Given the description of an element on the screen output the (x, y) to click on. 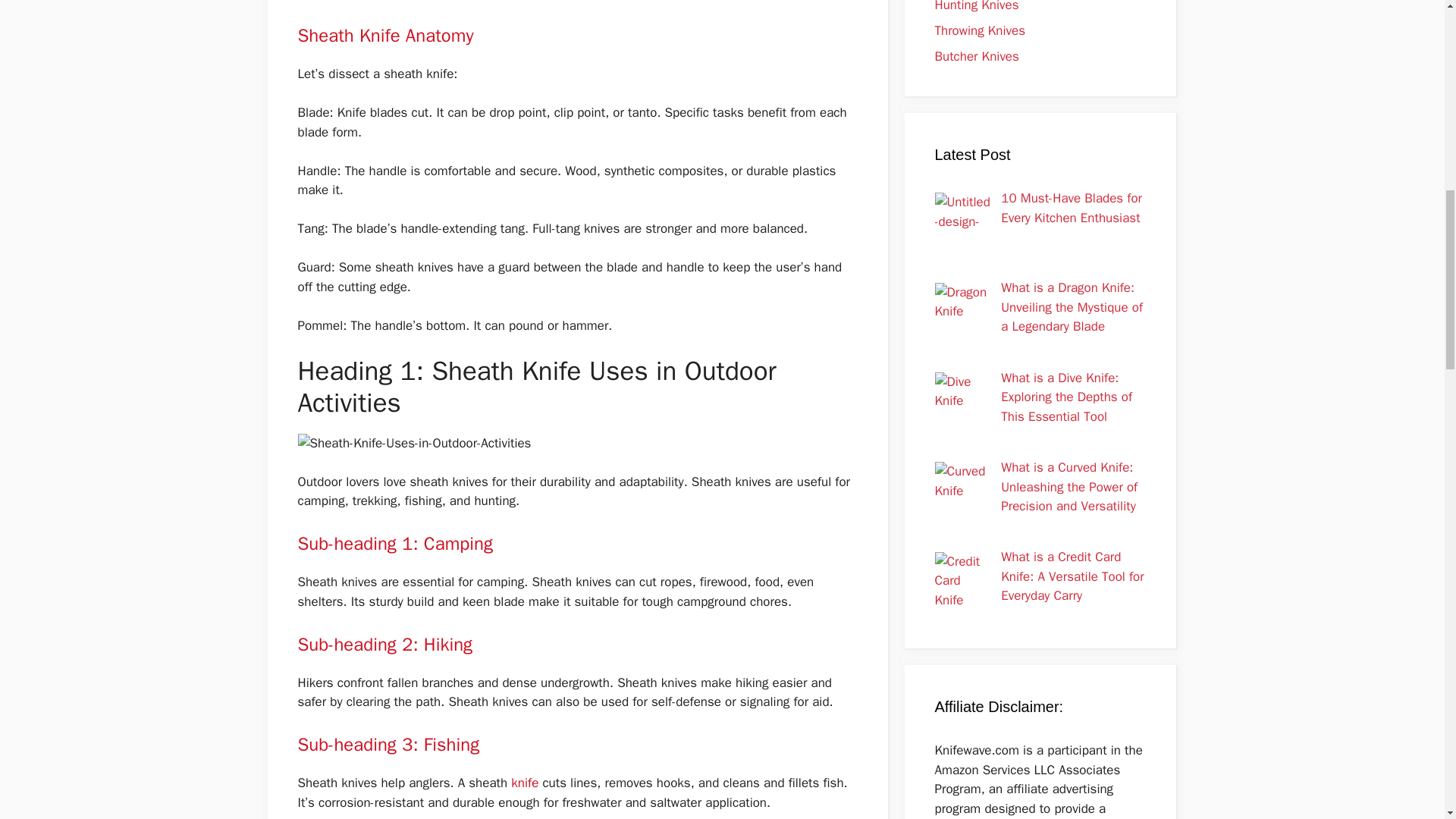
Butcher Knives (975, 56)
10 Must-Have Blades for Every Kitchen Enthusiast (1071, 208)
Throwing Knives (979, 30)
Hunting Knives (975, 6)
knife (526, 782)
Scroll back to top (1406, 720)
